Given the description of an element on the screen output the (x, y) to click on. 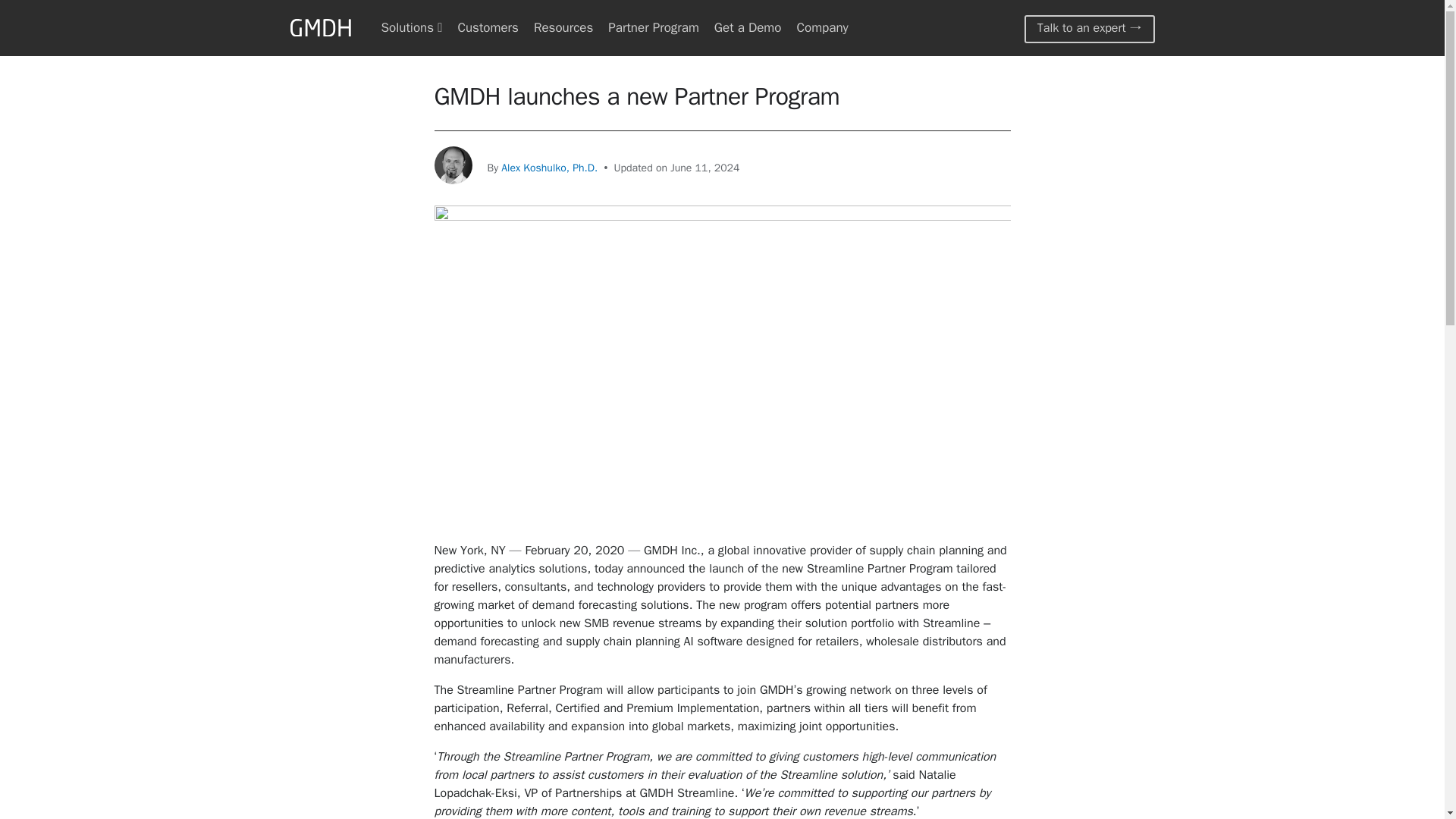
Resources (563, 27)
Get a Demo (747, 27)
GMDH logo (319, 28)
Customers (487, 27)
Partner Program (653, 27)
Company (821, 27)
Solutions (411, 27)
